Given the description of an element on the screen output the (x, y) to click on. 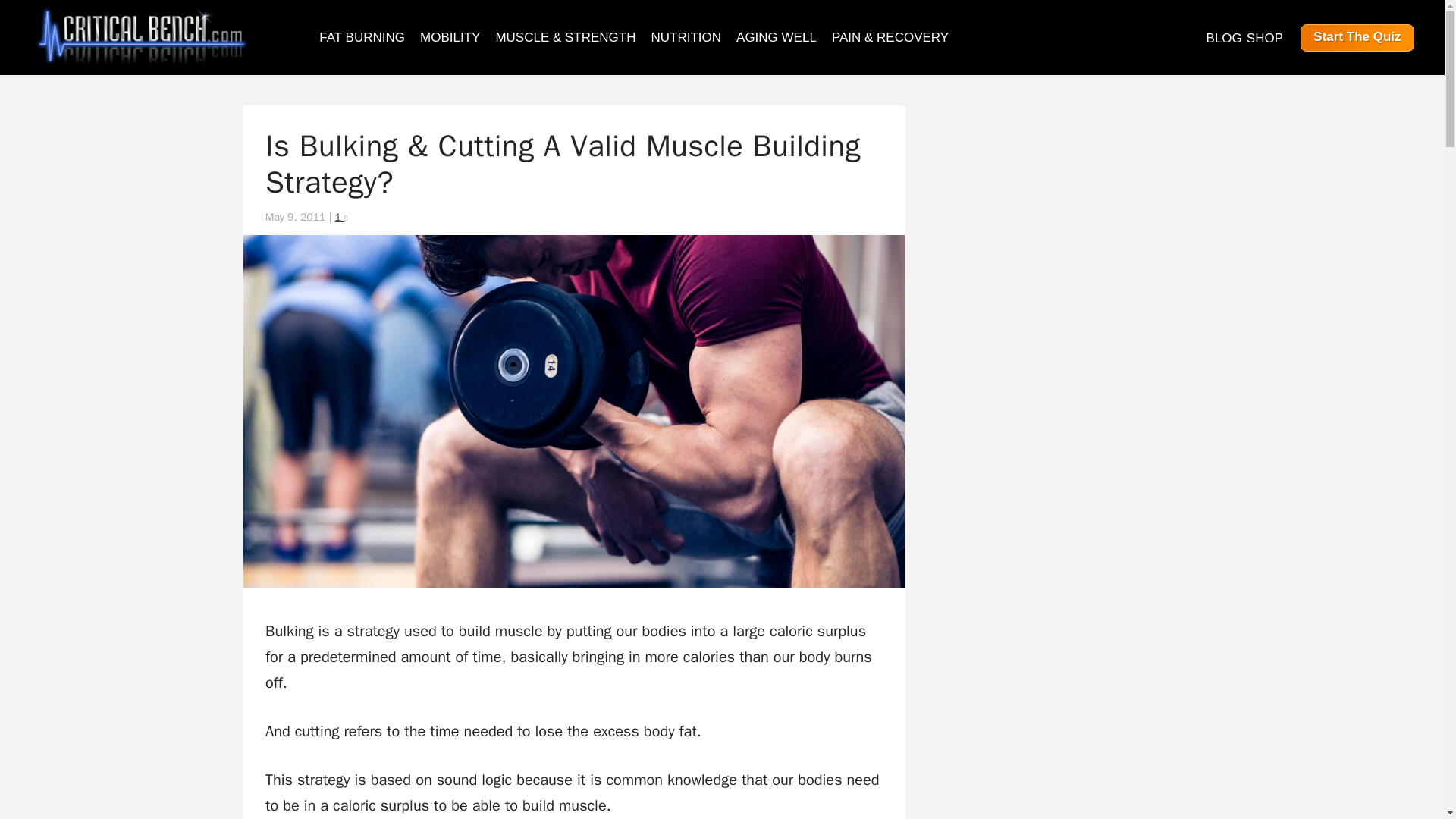
Start The Quiz (1356, 37)
FAT BURNING (361, 36)
NUTRITION (686, 36)
BLOG (1224, 37)
SHOP (1264, 37)
AGING WELL (776, 36)
MOBILITY (449, 36)
